Given the description of an element on the screen output the (x, y) to click on. 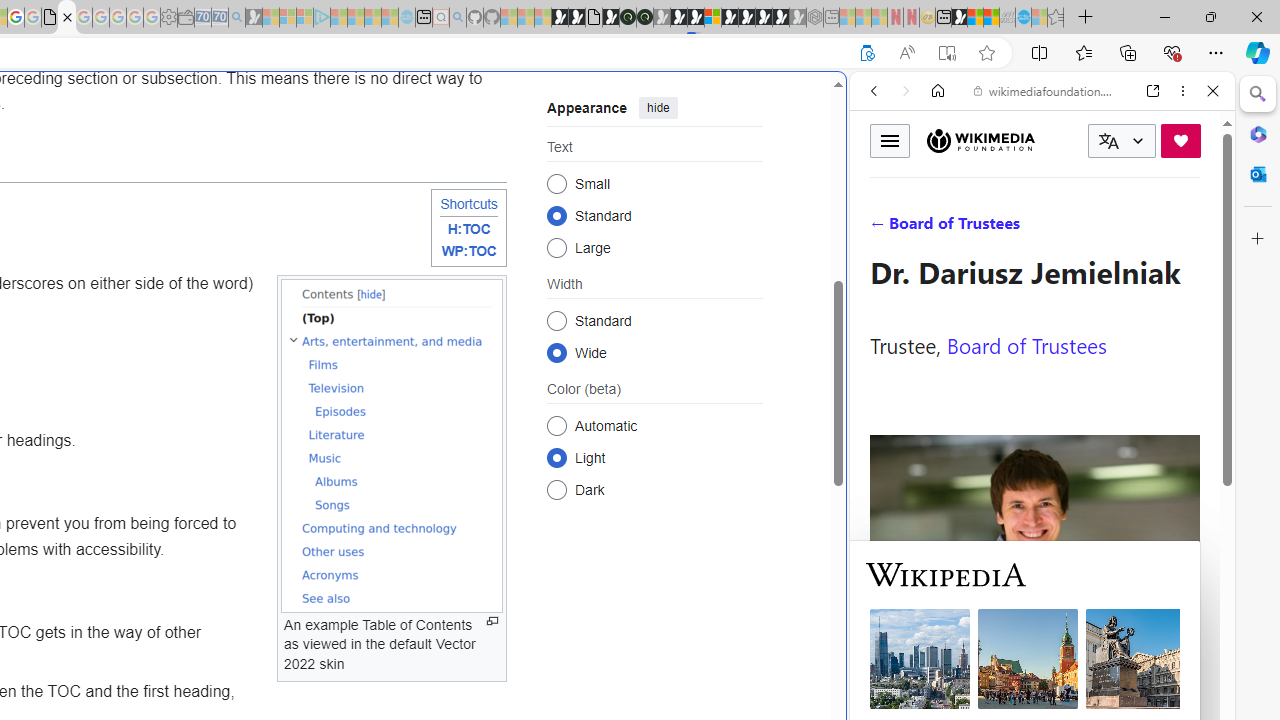
Home | Sky Blue Bikes - Sky Blue Bikes (687, 426)
Earth has six continents not seven, radical new study claims (991, 17)
Automatic (556, 425)
Small (556, 182)
Standard (556, 320)
